Given the description of an element on the screen output the (x, y) to click on. 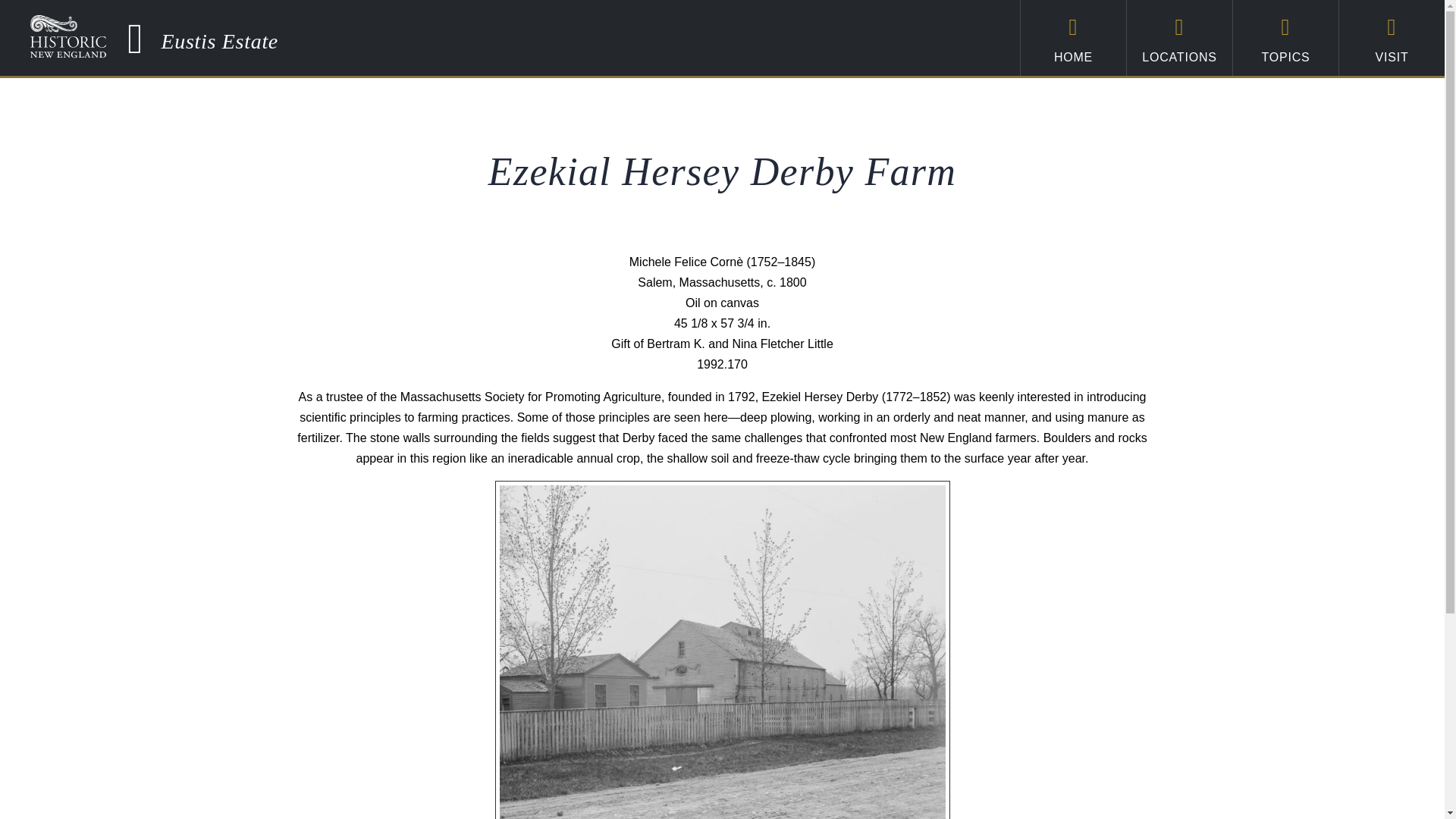
LOCATIONS (1178, 38)
HOME (1072, 38)
TOPICS (1285, 38)
